Given the description of an element on the screen output the (x, y) to click on. 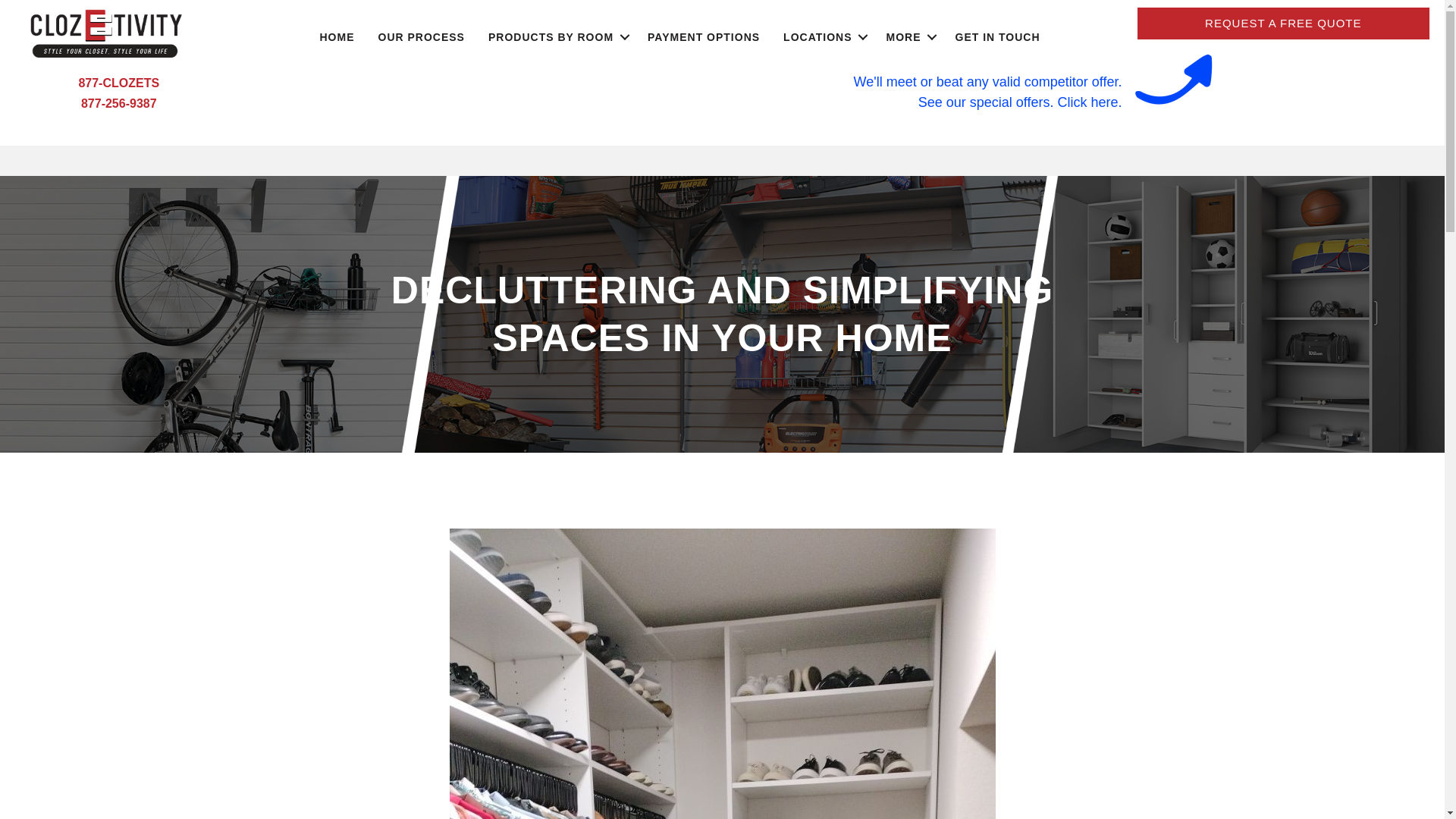
Arrow (1171, 88)
877-256-9387 (119, 103)
MORE (909, 37)
OUR PROCESS (421, 37)
877-CLOZETS (118, 82)
Header Logo (106, 32)
LOCATIONS (822, 37)
GET IN TOUCH (997, 37)
PAYMENT OPTIONS (703, 37)
PRODUCTS BY ROOM (555, 37)
